Given the description of an element on the screen output the (x, y) to click on. 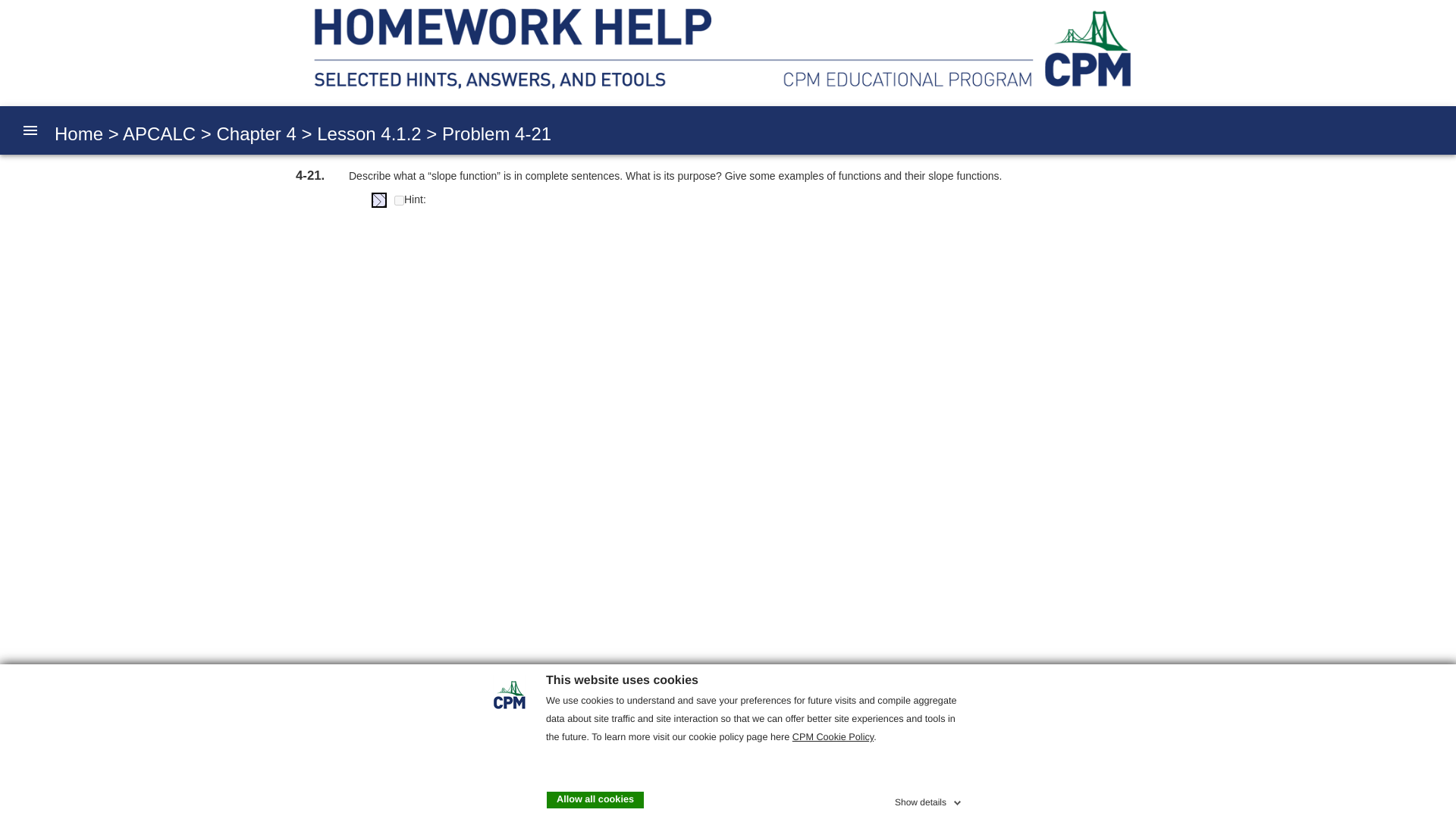
Show details (929, 799)
CPM Cookie Policy (832, 737)
Allow all cookies (595, 799)
on (399, 200)
